Given the description of an element on the screen output the (x, y) to click on. 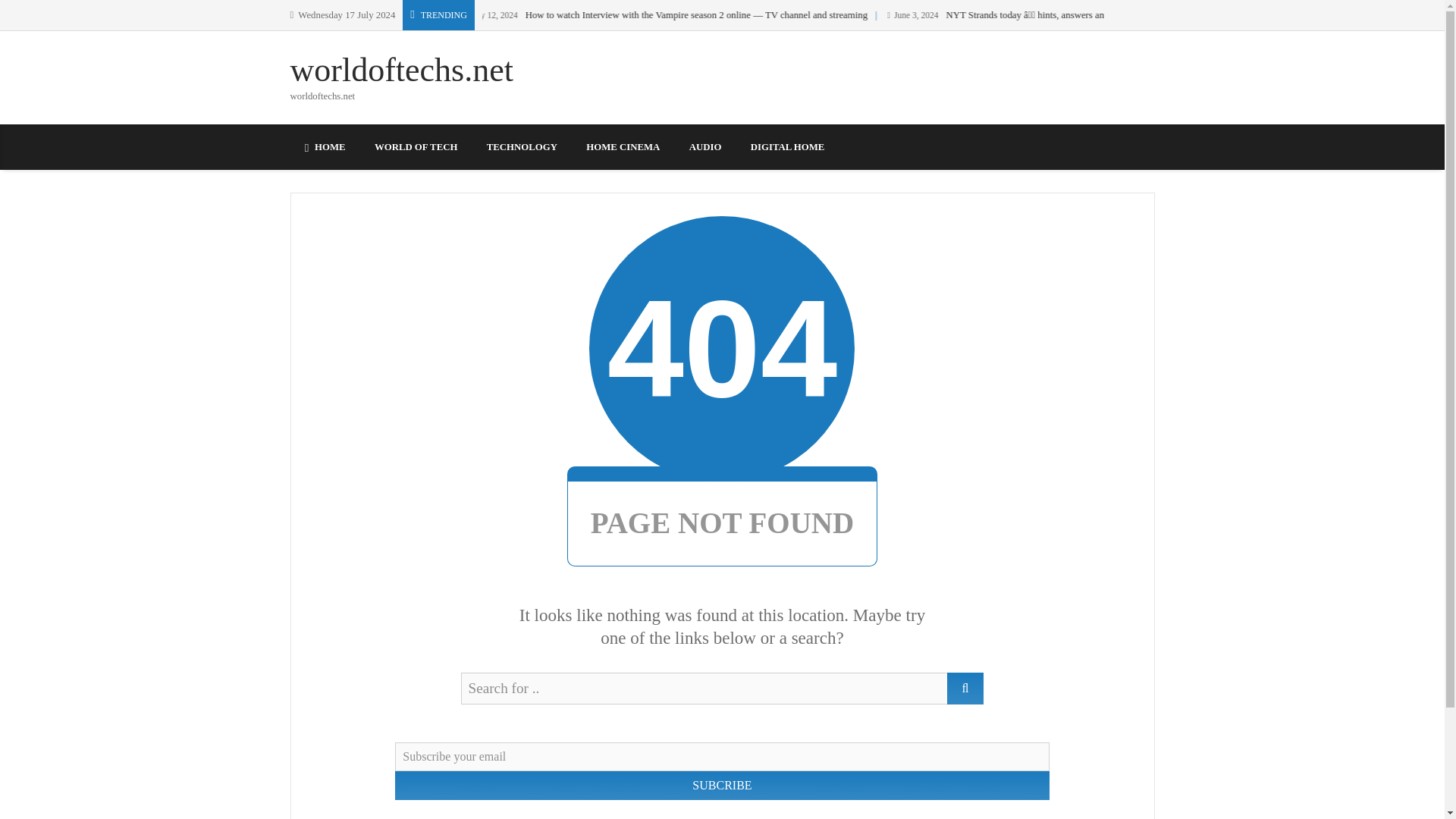
HOME (324, 146)
AUDIO (705, 146)
HOME CINEMA (623, 146)
WORLD OF TECH (415, 146)
DIGITAL HOME (788, 146)
SUBCRIBE (721, 785)
TECHNOLOGY (521, 146)
worldoftechs.net (400, 69)
